Given the description of an element on the screen output the (x, y) to click on. 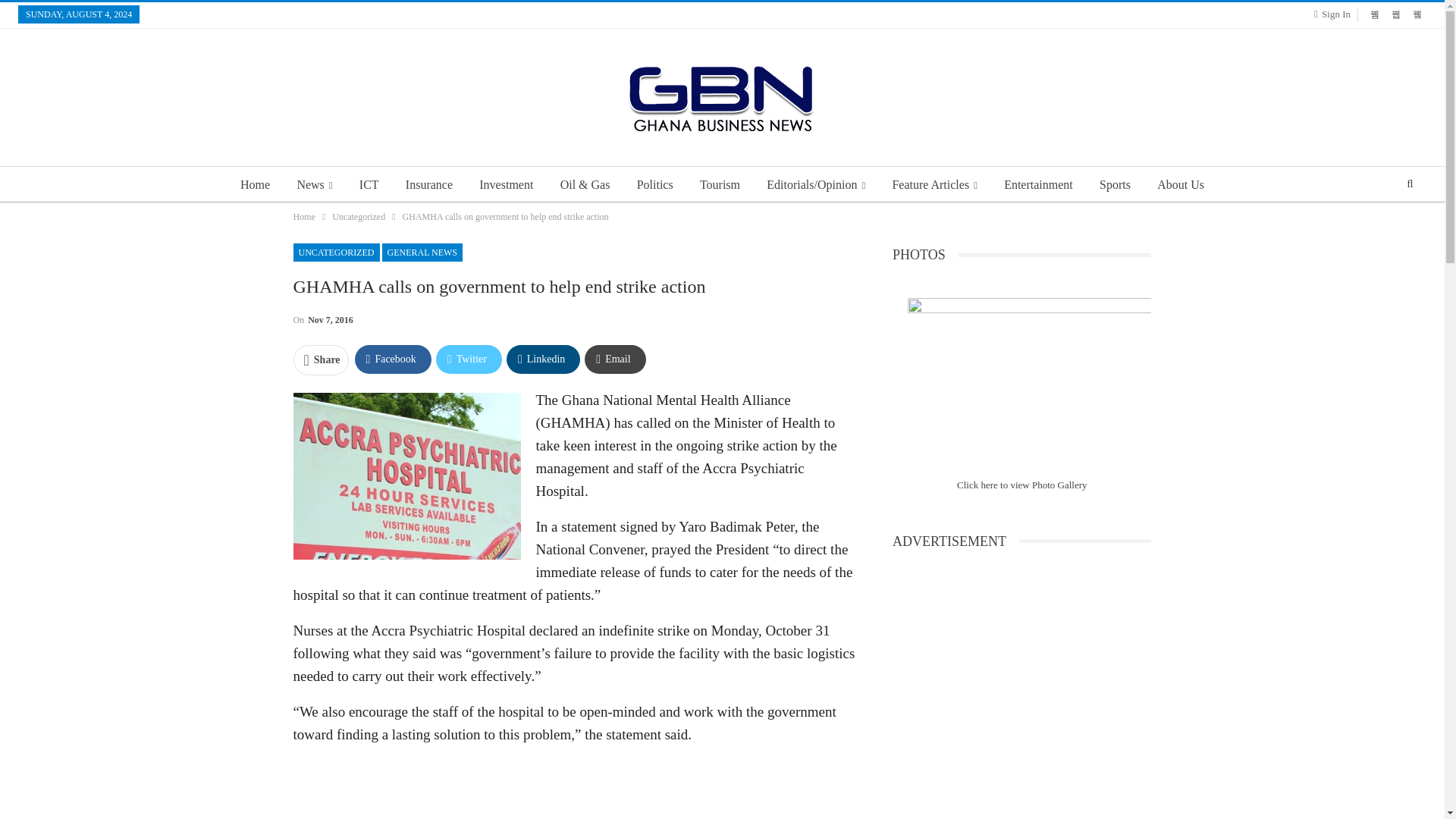
13th-African-games-30 (1029, 379)
Feature Articles (934, 185)
Facebook (392, 358)
Insurance (428, 185)
News (313, 185)
Twitter (468, 358)
UNCATEGORIZED (335, 252)
Email (615, 358)
Home (255, 185)
Politics (654, 185)
